Given the description of an element on the screen output the (x, y) to click on. 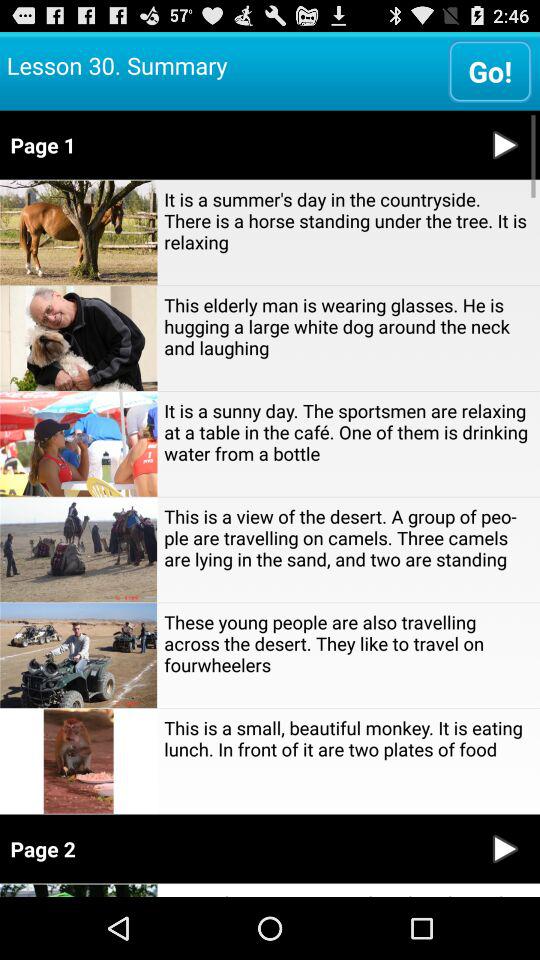
next page (505, 848)
